Given the description of an element on the screen output the (x, y) to click on. 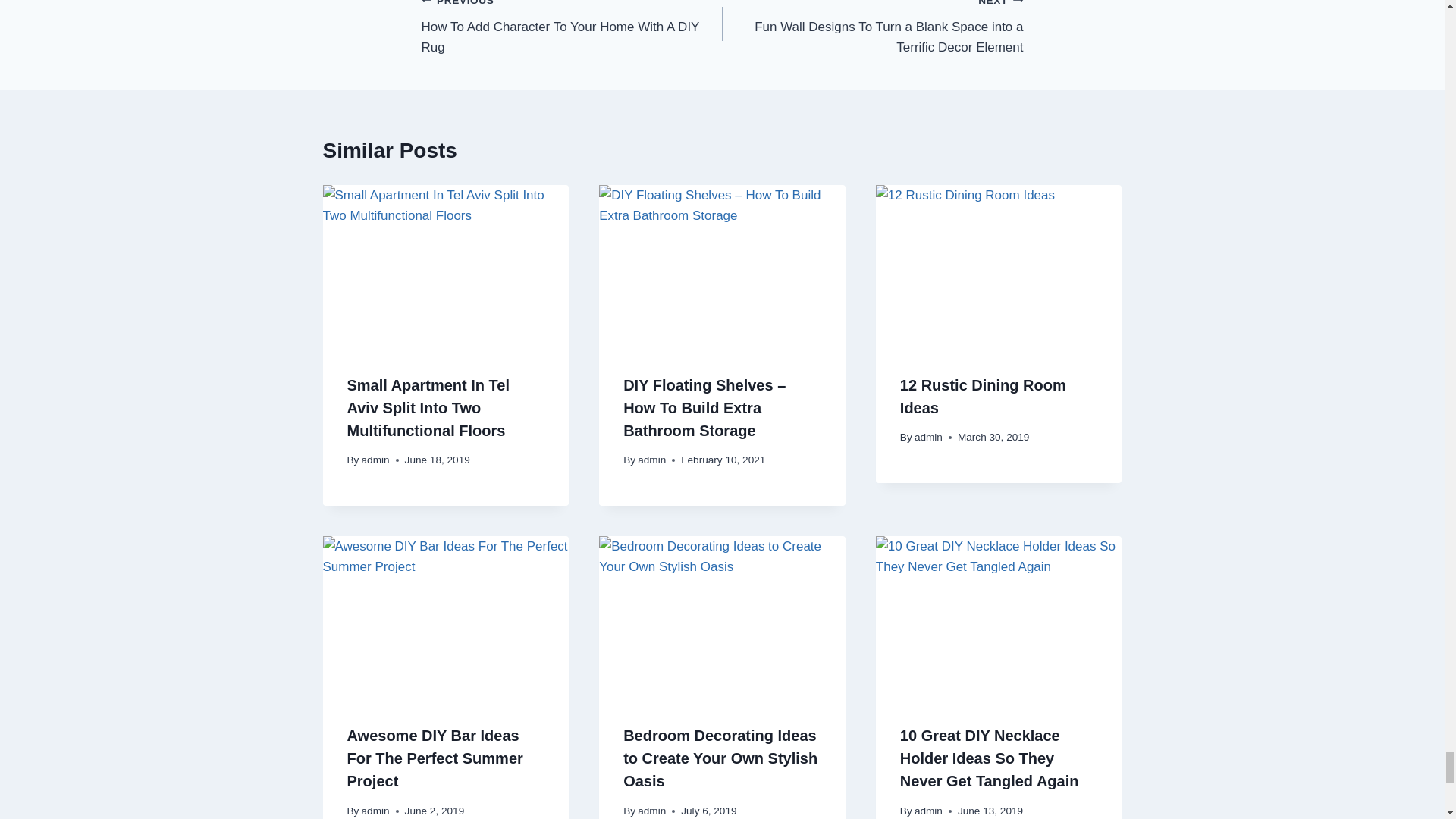
admin (375, 460)
admin (928, 437)
Awesome DIY Bar Ideas For The Perfect Summer Project (572, 28)
admin (434, 758)
12 Rustic Dining Room Ideas (375, 810)
admin (982, 396)
